Given the description of an element on the screen output the (x, y) to click on. 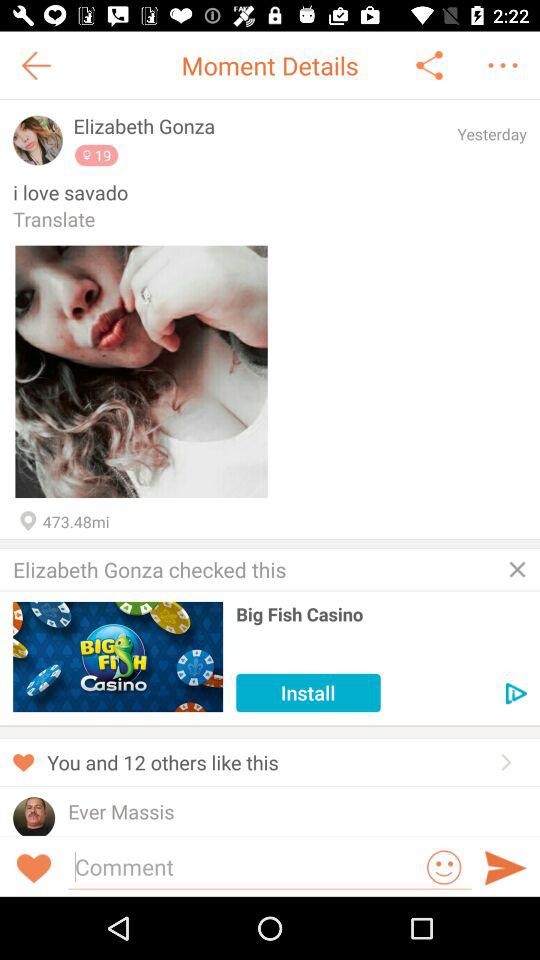
click the app above quelinda app (121, 811)
